Given the description of an element on the screen output the (x, y) to click on. 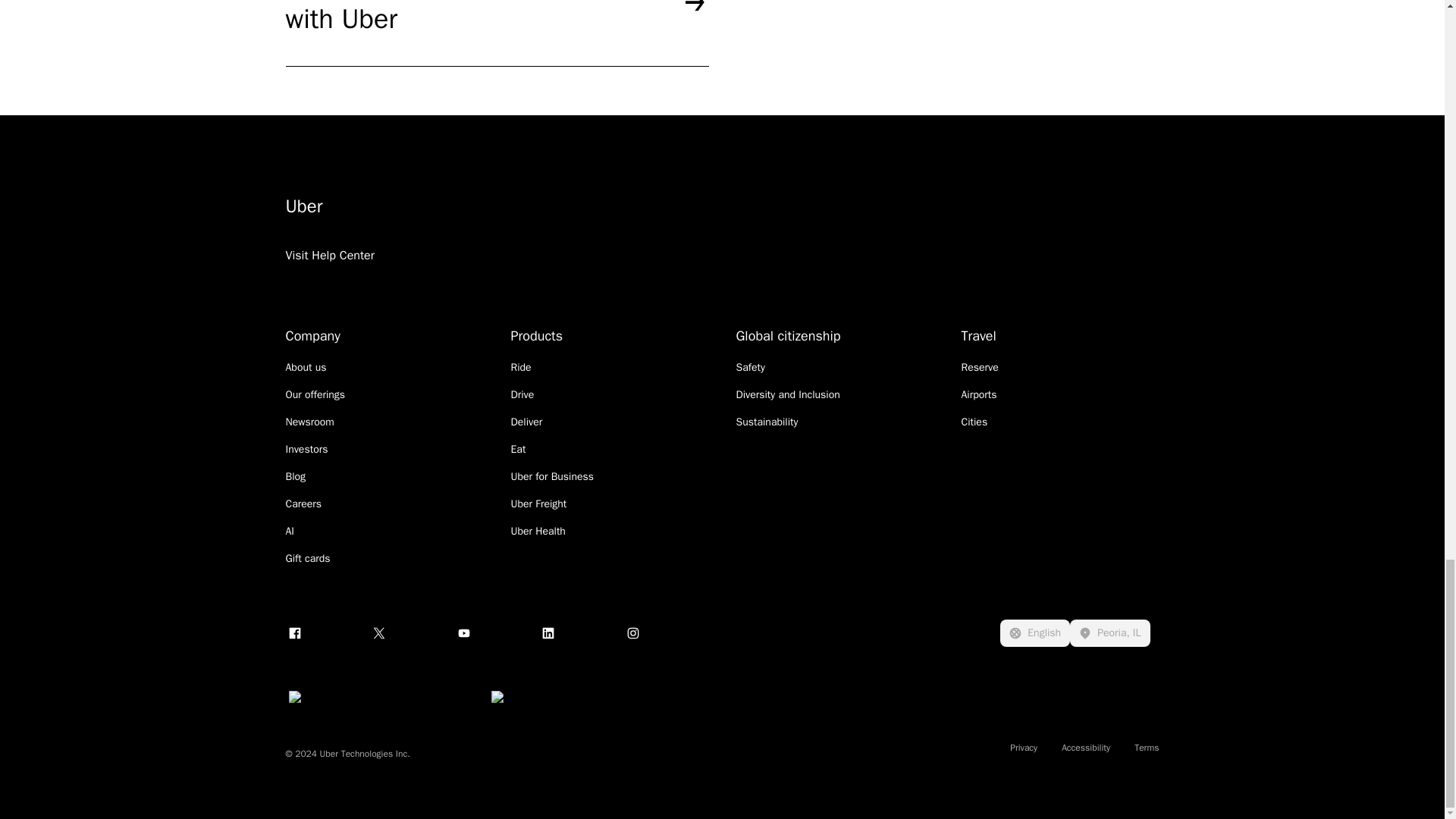
Eat (518, 449)
AI (289, 531)
Drive (522, 394)
Visit Help Center (329, 274)
Blog (295, 476)
About us (305, 367)
Uber for Business (552, 476)
Uber Freight (539, 503)
Uber Health (538, 531)
Newsroom (309, 421)
Investors (306, 449)
Start making money with Uber (496, 33)
Our offerings (315, 394)
Deliver (527, 421)
Gift cards (307, 558)
